Given the description of an element on the screen output the (x, y) to click on. 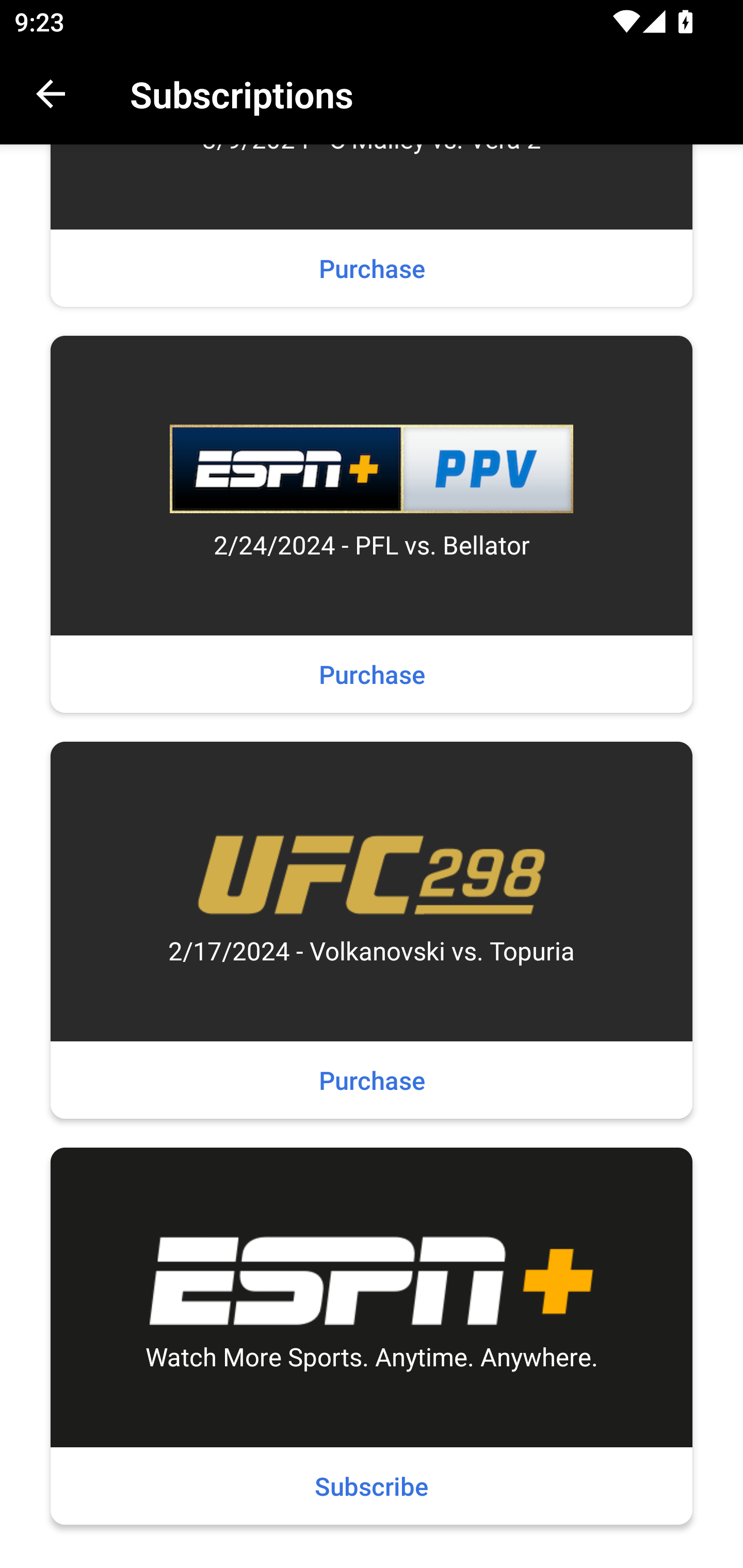
back.button (50, 93)
Purchase (371, 268)
Purchase (371, 674)
Purchase (371, 1079)
Subscribe (371, 1485)
